Given the description of an element on the screen output the (x, y) to click on. 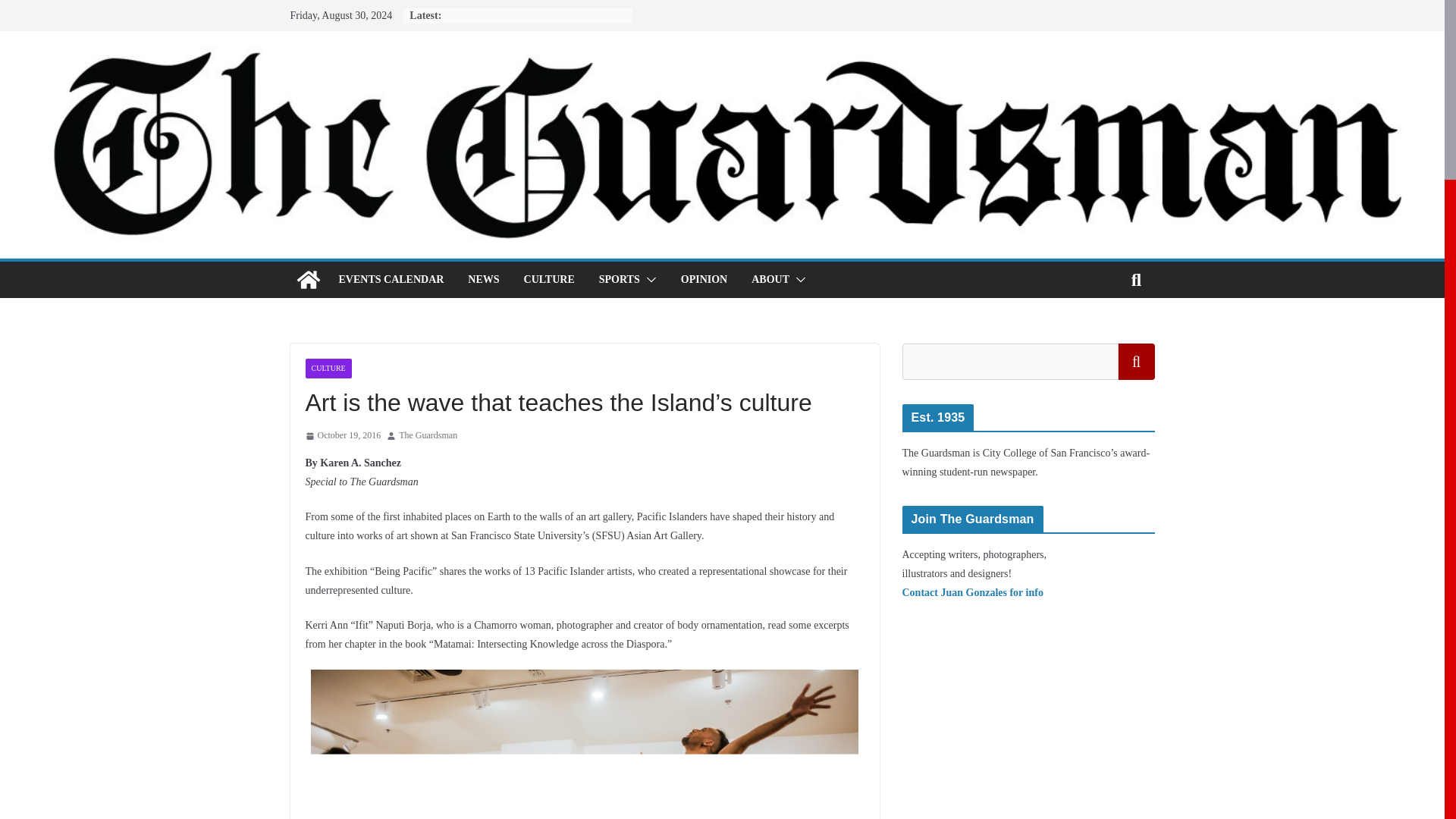
OPINION (703, 279)
CULTURE (549, 279)
The Guardsman (427, 435)
The Guardsman (427, 435)
EVENTS CALENDAR (390, 279)
October 19, 2016 (342, 435)
ABOUT (770, 279)
NEWS (483, 279)
The Guardsman (307, 279)
7:04 pm (342, 435)
